Given the description of an element on the screen output the (x, y) to click on. 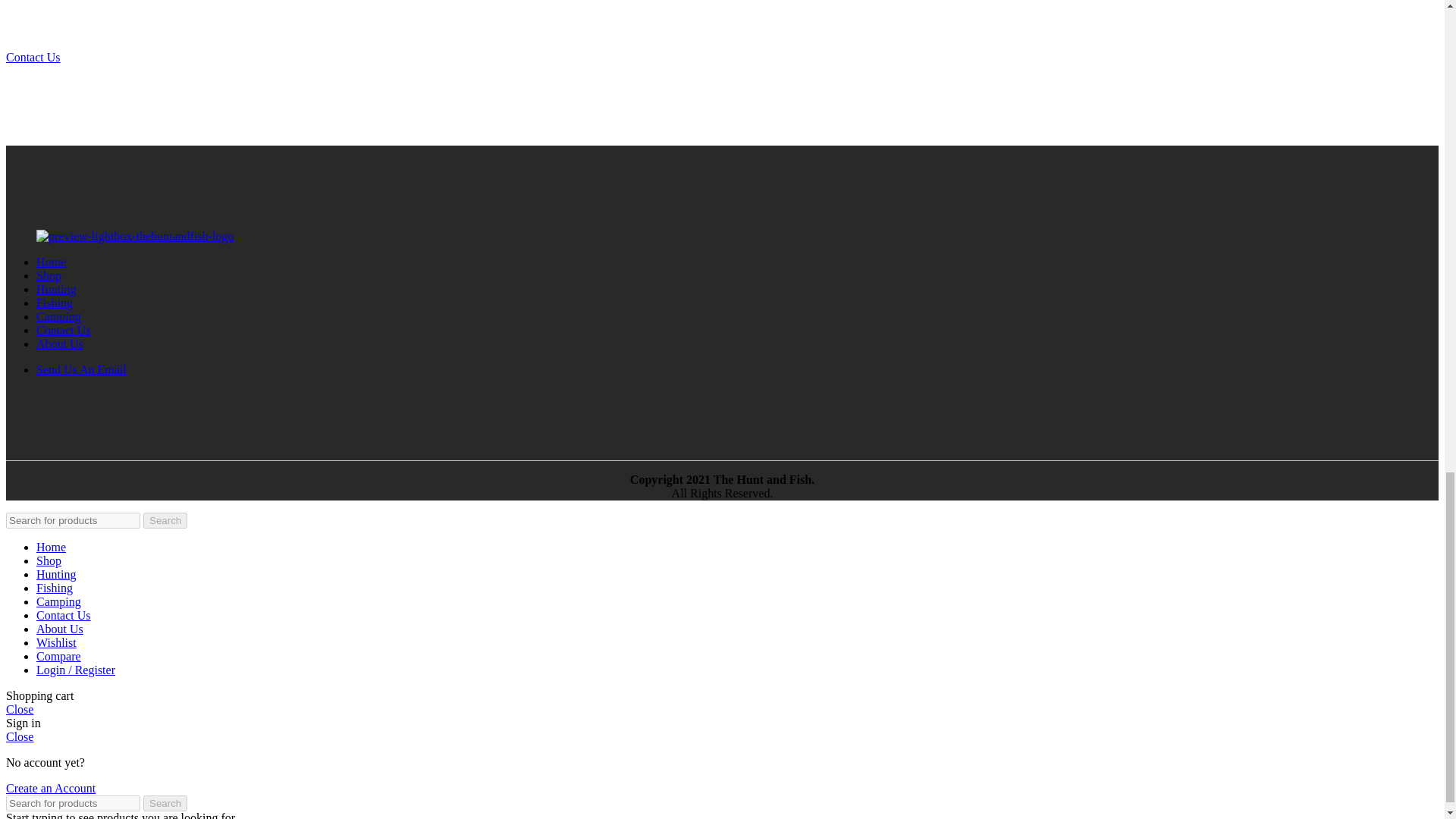
preview-lightbox-thehuntandfish-logo (134, 236)
Send Us An Email (81, 369)
Contact Us (33, 56)
Home (50, 261)
Shop (48, 275)
About Us (59, 343)
Search for products (72, 803)
Fishing (54, 302)
Contact Us (63, 329)
Search for products (72, 520)
Hunting (55, 288)
Contact Us (33, 56)
Search (164, 520)
Camping (58, 316)
